Given the description of an element on the screen output the (x, y) to click on. 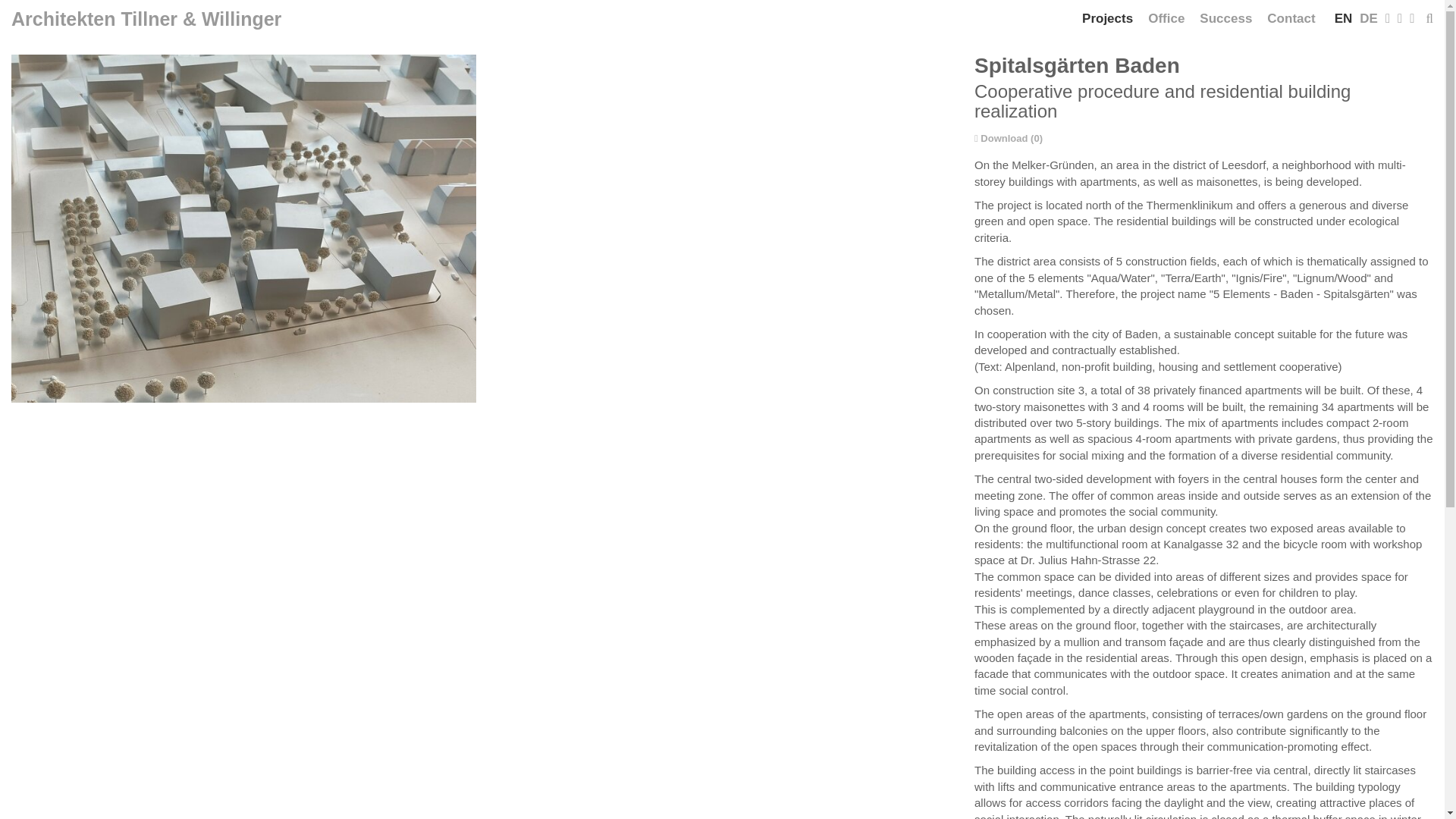
Projects (1107, 18)
Success (1225, 18)
EN (1345, 18)
DE (1368, 18)
Office (1166, 18)
Download (1000, 138)
Contact (1290, 18)
